Given the description of an element on the screen output the (x, y) to click on. 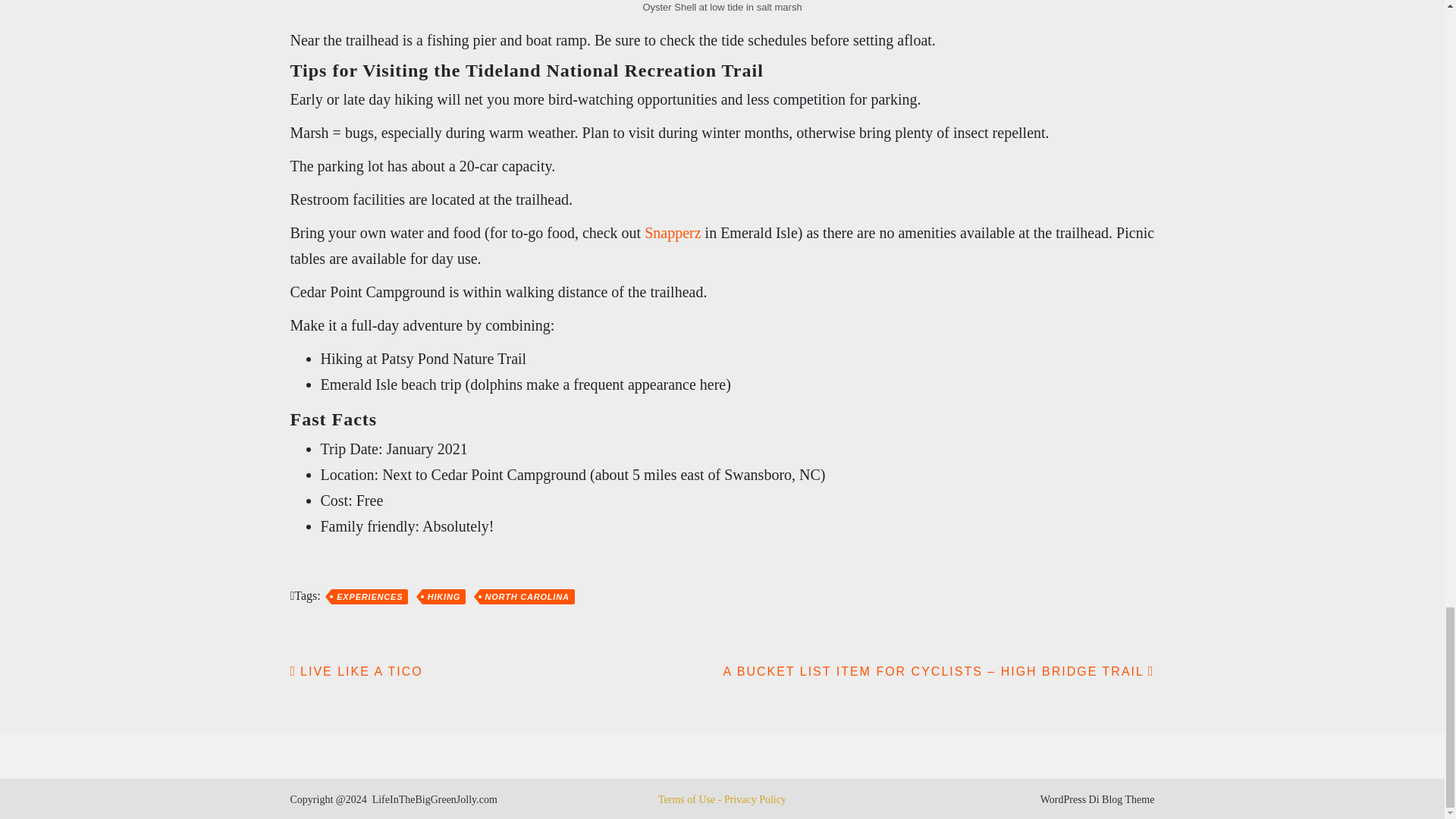
NORTH CAROLINA (526, 596)
LIVE LIKE A TICO (355, 671)
HIKING (443, 596)
Terms of Use - Privacy Policy (722, 799)
Snapperz (672, 232)
EXPERIENCES (369, 596)
